Given the description of an element on the screen output the (x, y) to click on. 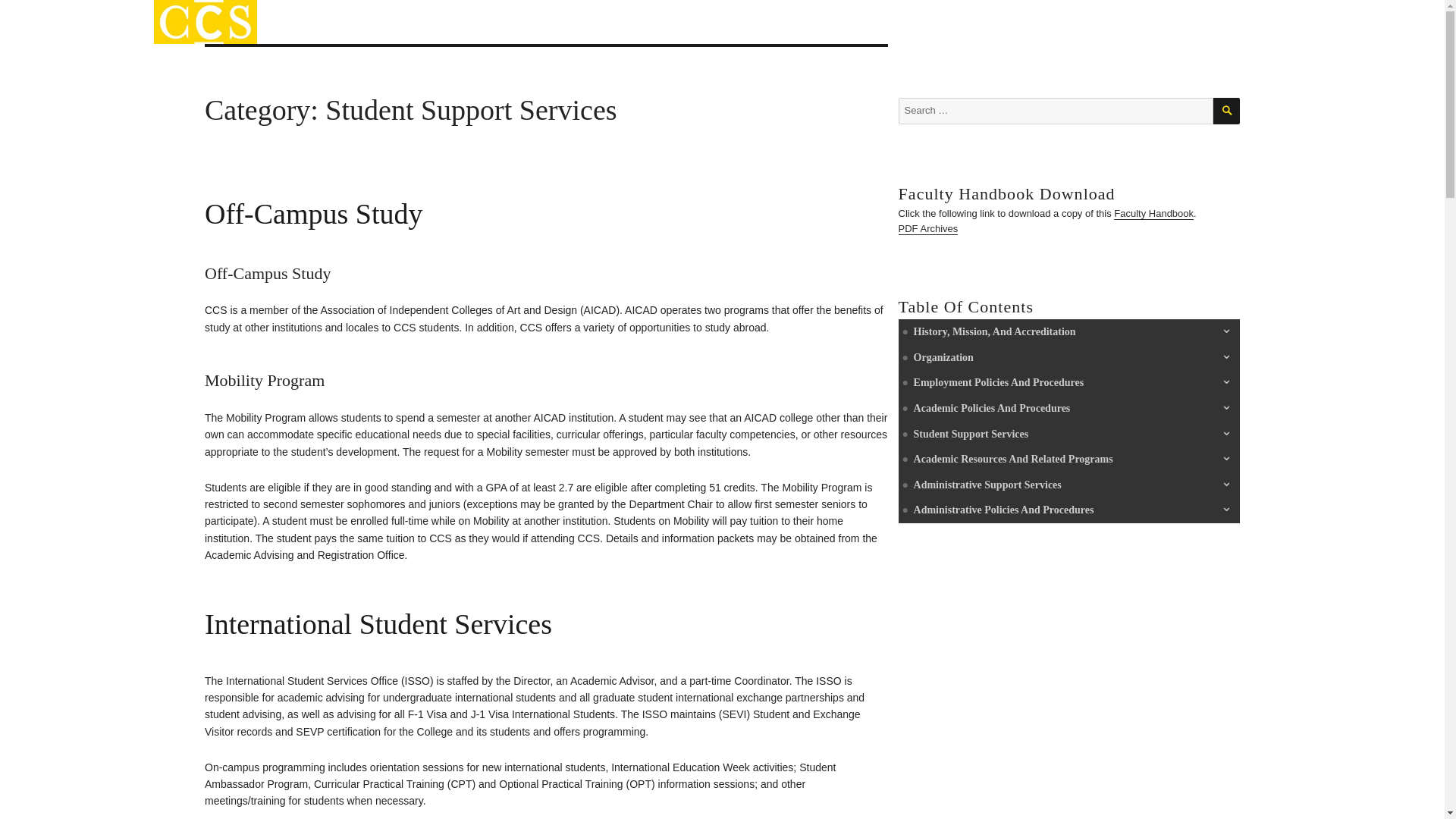
Off-Campus Study (313, 214)
Faculty Handbook (255, 31)
International Student Services (378, 623)
